Given the description of an element on the screen output the (x, y) to click on. 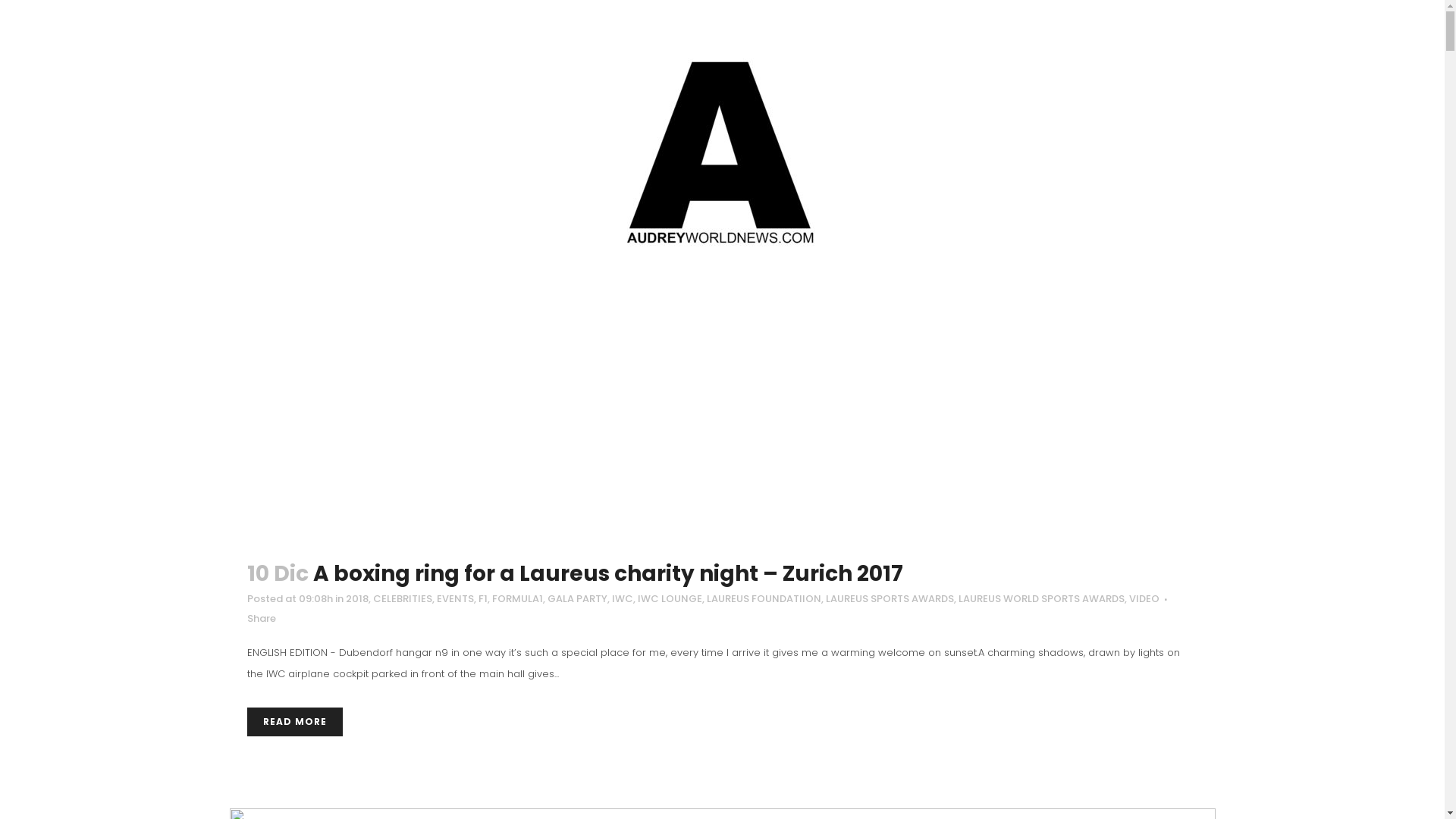
Share Element type: text (261, 618)
LAUREUS WORLD SPORTS AWARDS Element type: text (1041, 598)
2018 Element type: text (356, 598)
LAUREUS SPORTS AWARDS Element type: text (889, 598)
FORMULA1 Element type: text (516, 598)
READ MORE Element type: text (294, 721)
GALA PARTY Element type: text (577, 598)
IWC Element type: text (621, 598)
CELEBRITIES Element type: text (402, 598)
IWC LOUNGE Element type: text (669, 598)
F1 Element type: text (481, 598)
EVENTS Element type: text (454, 598)
LAUREUS FOUNDATIION Element type: text (763, 598)
VIDEO Element type: text (1143, 598)
